Given the description of an element on the screen output the (x, y) to click on. 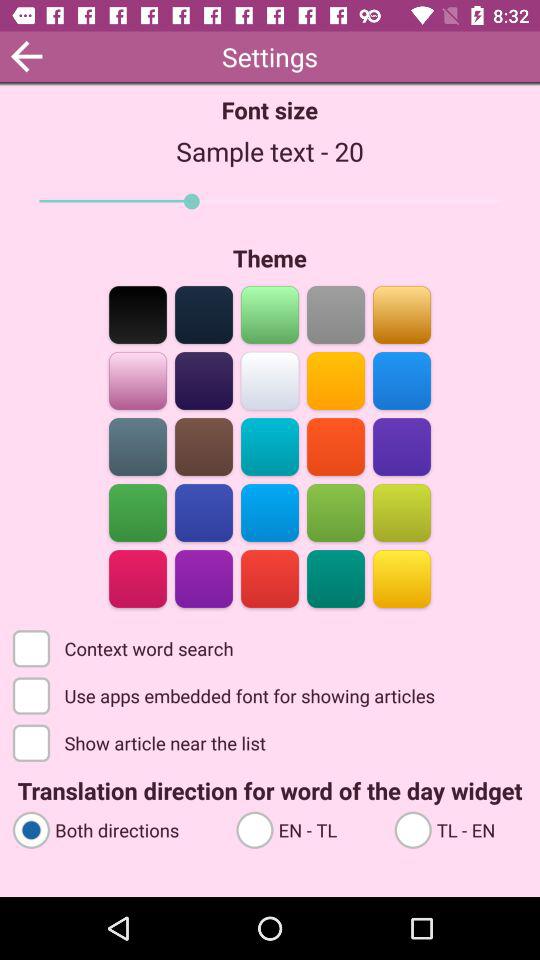
color selection (137, 445)
